Given the description of an element on the screen output the (x, y) to click on. 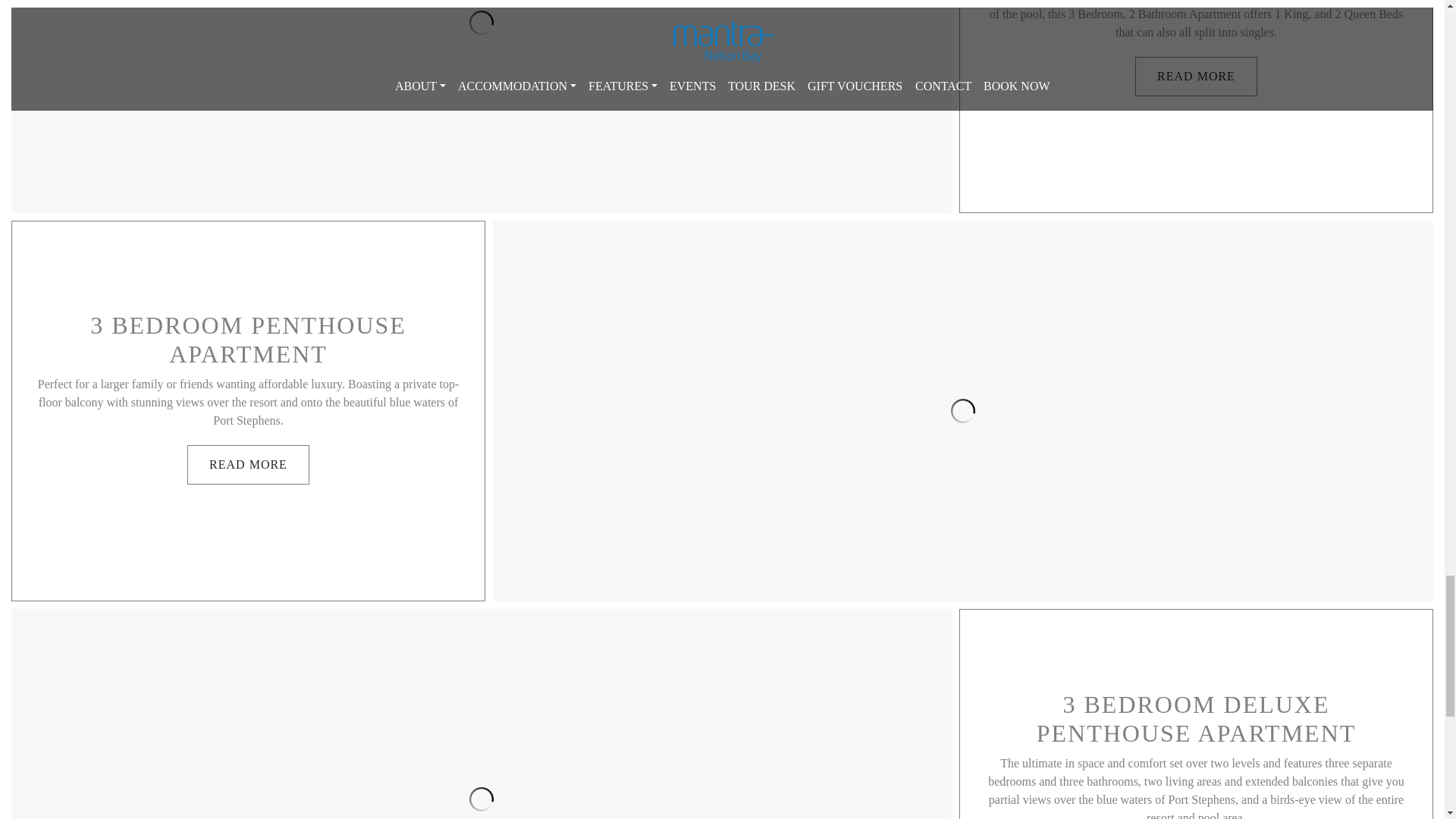
READ MORE (247, 464)
READ MORE (1196, 76)
